Given the description of an element on the screen output the (x, y) to click on. 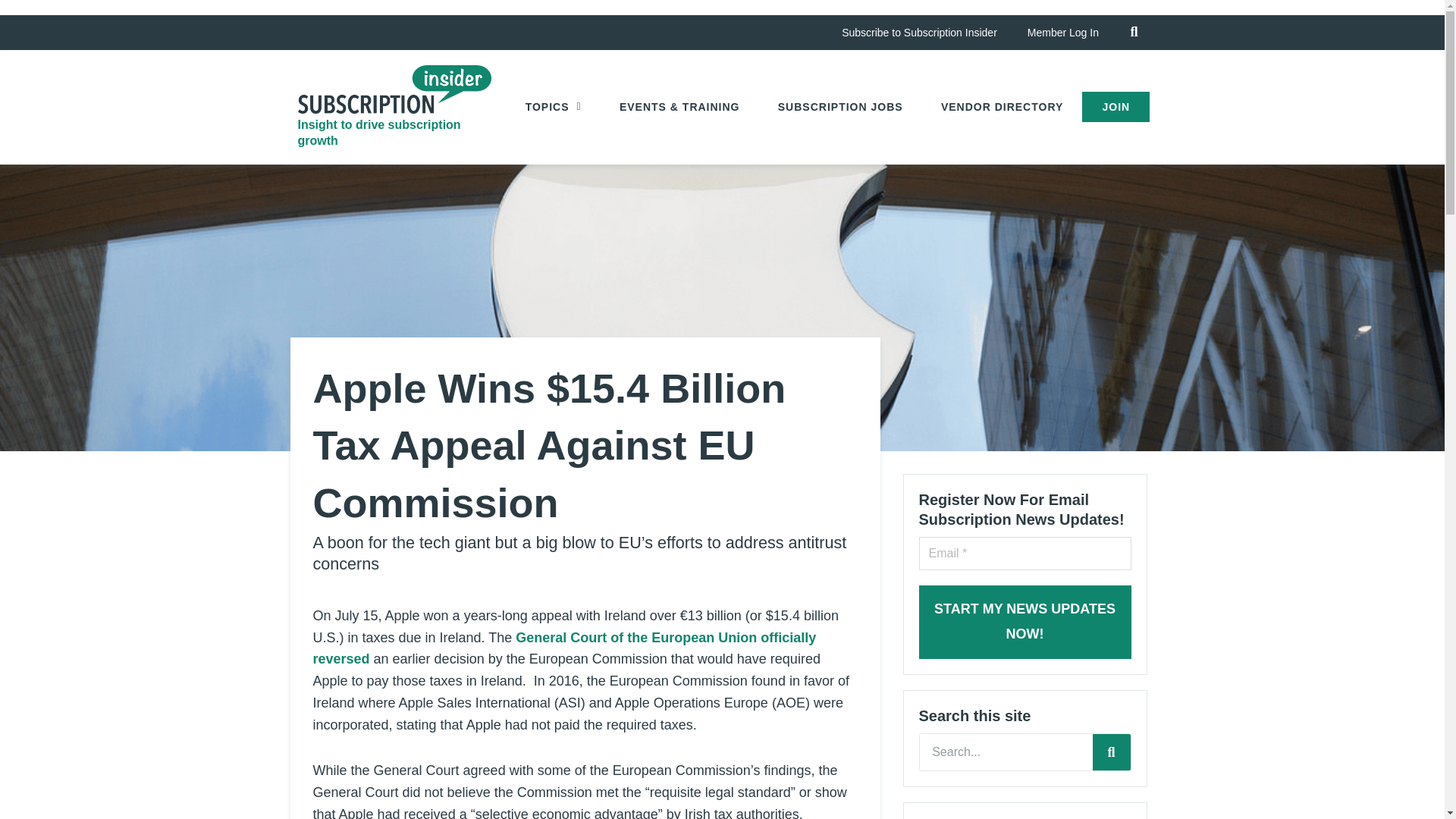
Subscribe to Subscription Insider (919, 32)
Member Log In (1062, 32)
VENDOR DIRECTORY (1002, 106)
SUBSCRIPTION JOBS (839, 106)
JOIN (1115, 106)
General Court of the European Union officially reversed (564, 648)
Email (1024, 553)
Start My News Updates Now! (1024, 622)
TOPICS (552, 106)
